Given the description of an element on the screen output the (x, y) to click on. 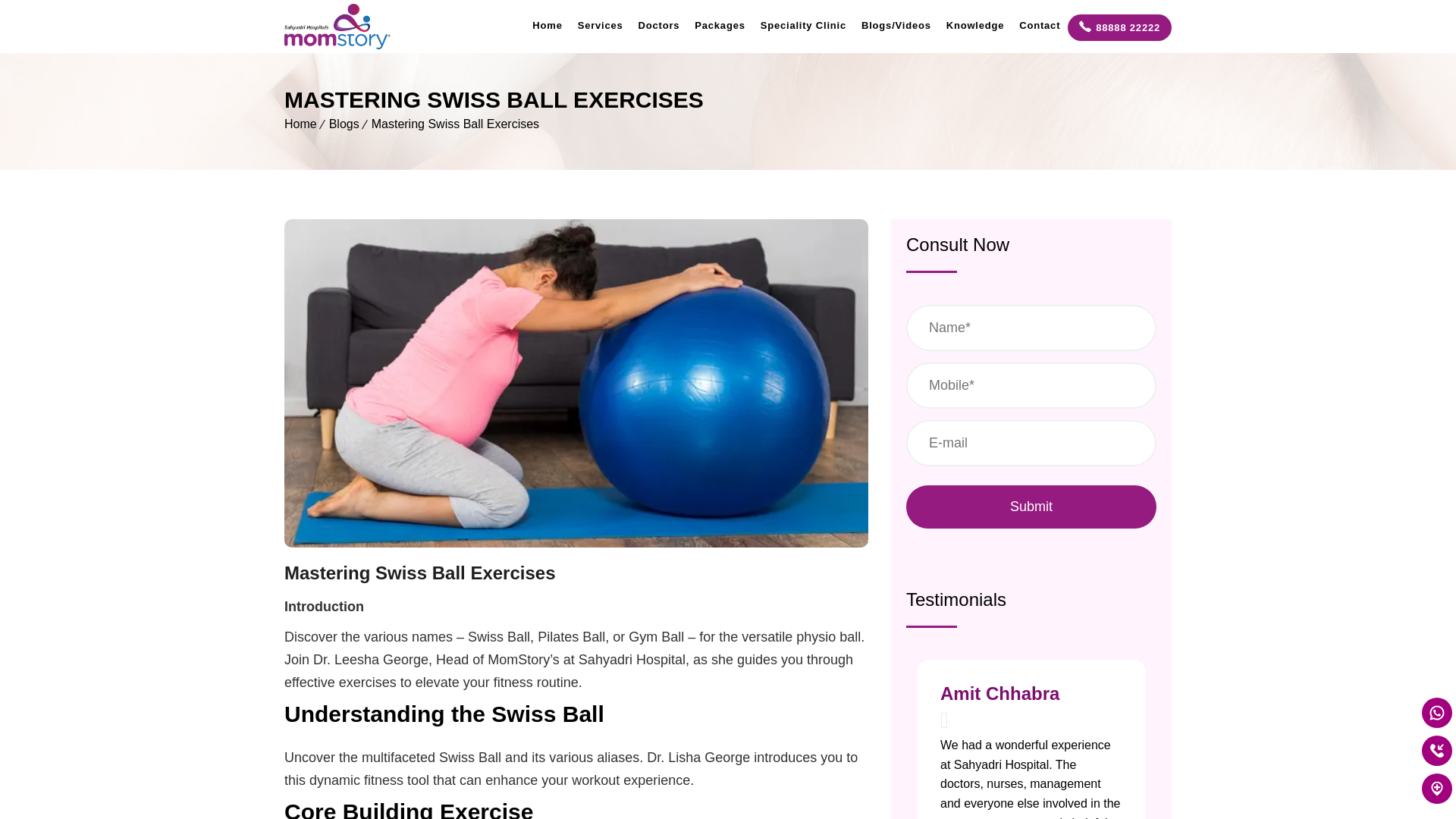
Knowledge (975, 25)
Mom Story (336, 26)
Home (546, 25)
Submit (1030, 506)
Packages (719, 25)
Permalink to Mastering Swiss Ball Exercises (575, 542)
Submit (1030, 506)
Blogs (344, 123)
Permalink to Mastering Swiss Ball Exercises (419, 572)
Contact (1039, 25)
Mom Story (336, 26)
Services (600, 25)
Mastering Swiss Ball Exercises (419, 572)
Doctors (658, 25)
Mastering Swiss Ball Exercises (454, 123)
